Given the description of an element on the screen output the (x, y) to click on. 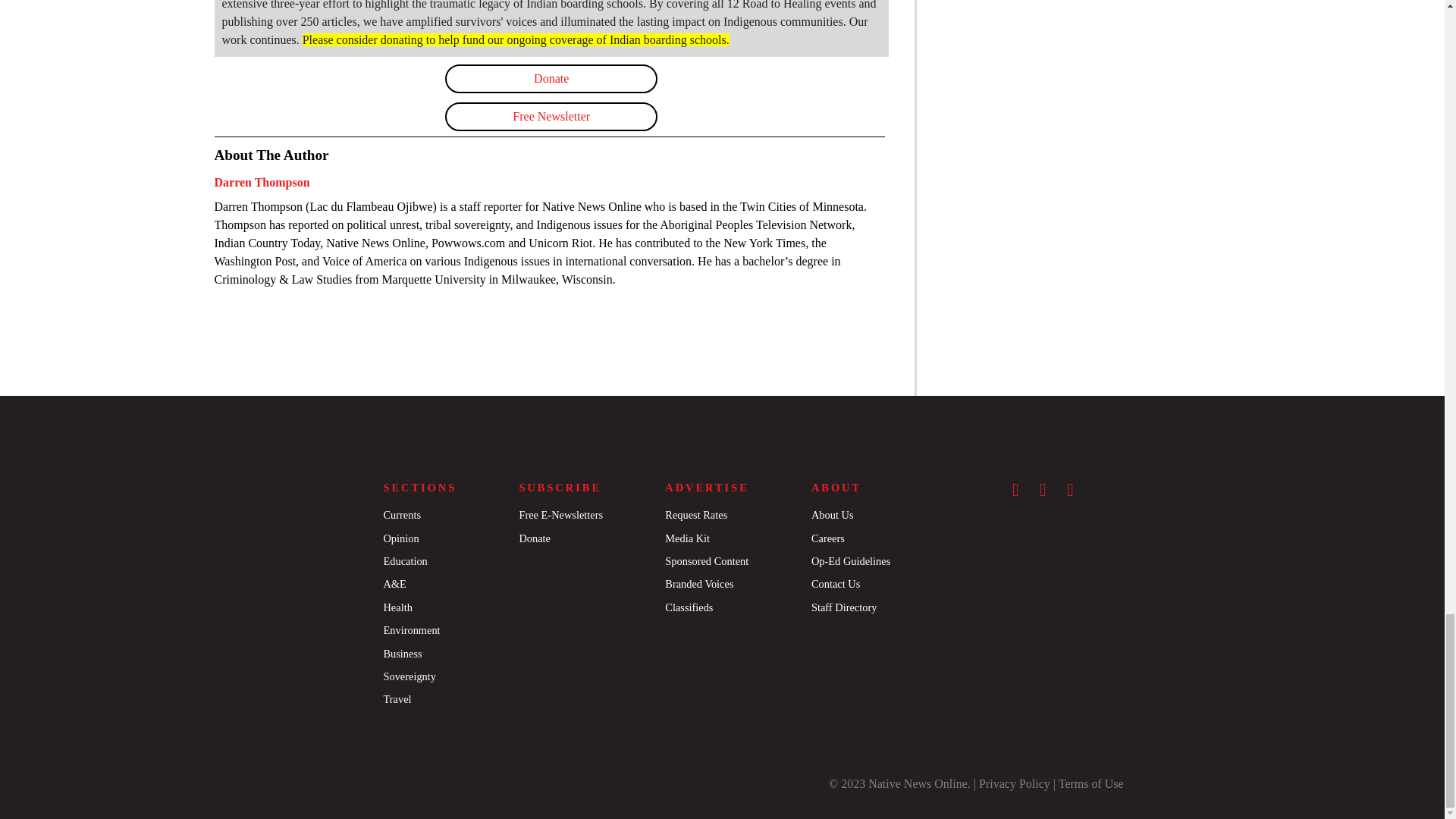
Business (402, 653)
Free Newsletter (551, 116)
Education (404, 561)
Branded Voices (699, 583)
Donate (551, 78)
Health (397, 607)
Free E-Newsletters (560, 514)
Darren Thompson (261, 182)
Environment (410, 630)
Sponsored Content (706, 561)
